Given the description of an element on the screen output the (x, y) to click on. 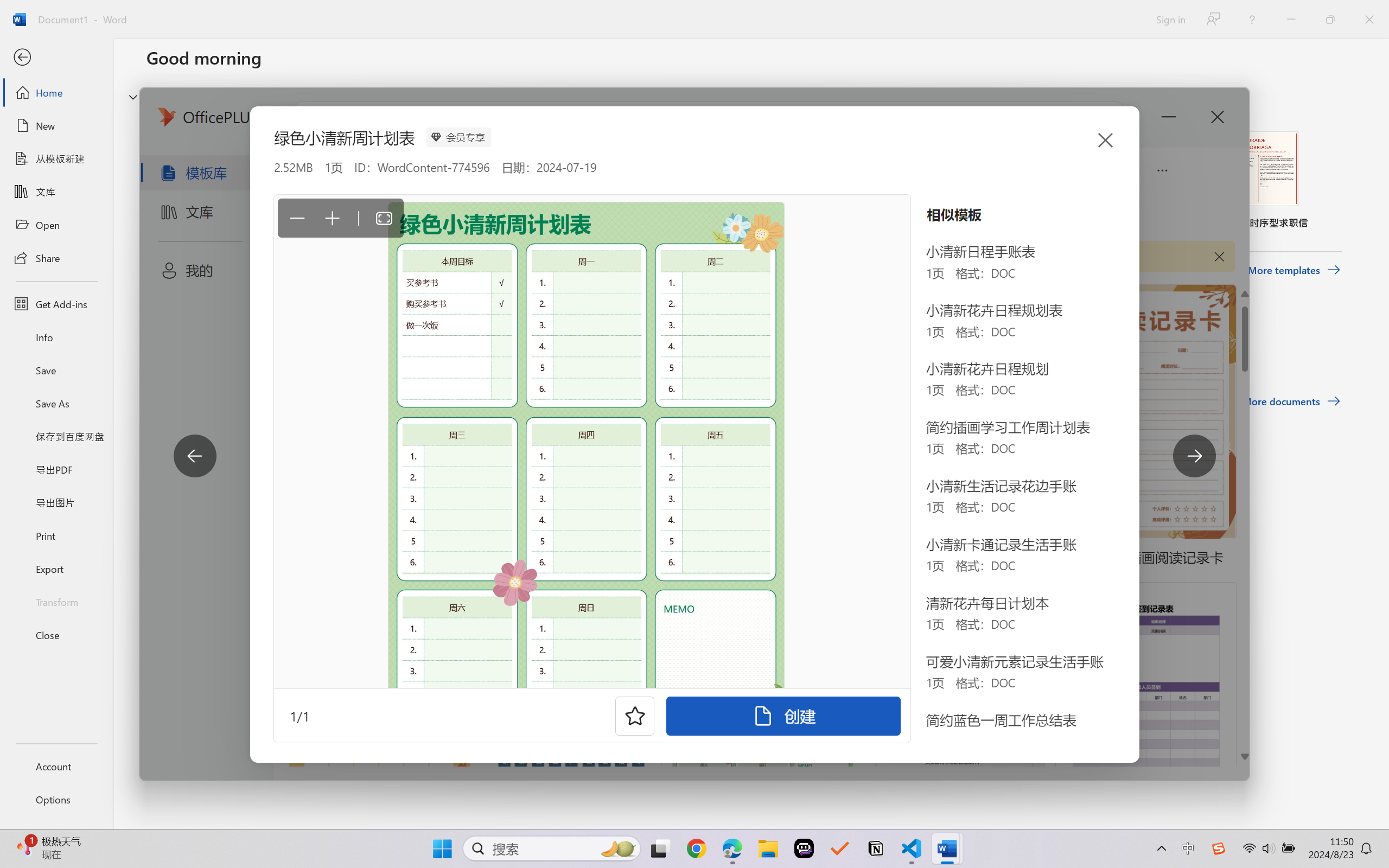
New (56, 125)
Save As (56, 403)
Account (56, 765)
Options (56, 798)
